Given the description of an element on the screen output the (x, y) to click on. 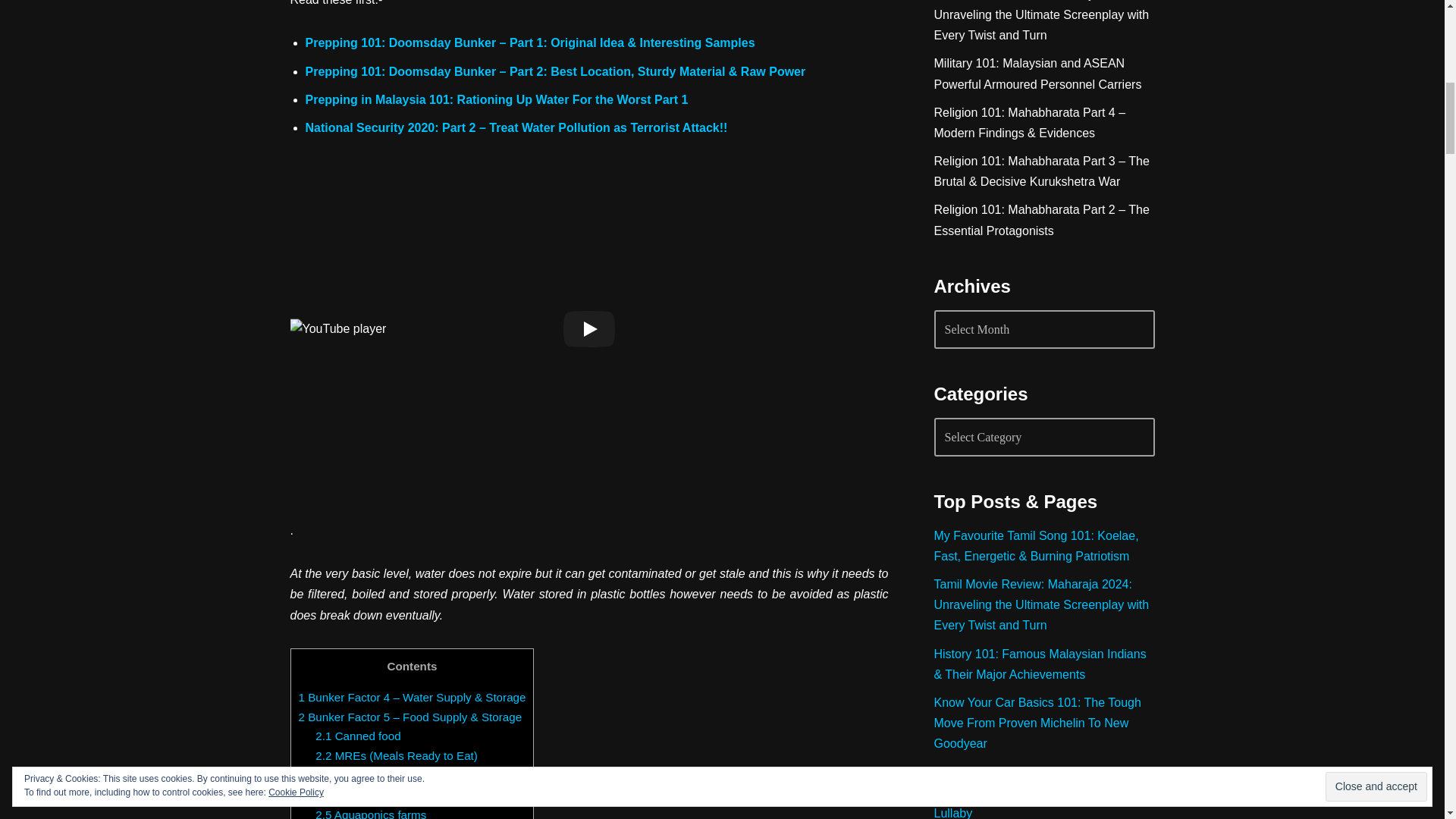
2.1 Canned food (357, 735)
2.5 Aquaponics farms (370, 813)
2.4 Salted dry food (363, 794)
2.3 Deep frozen food (369, 775)
